Given the description of an element on the screen output the (x, y) to click on. 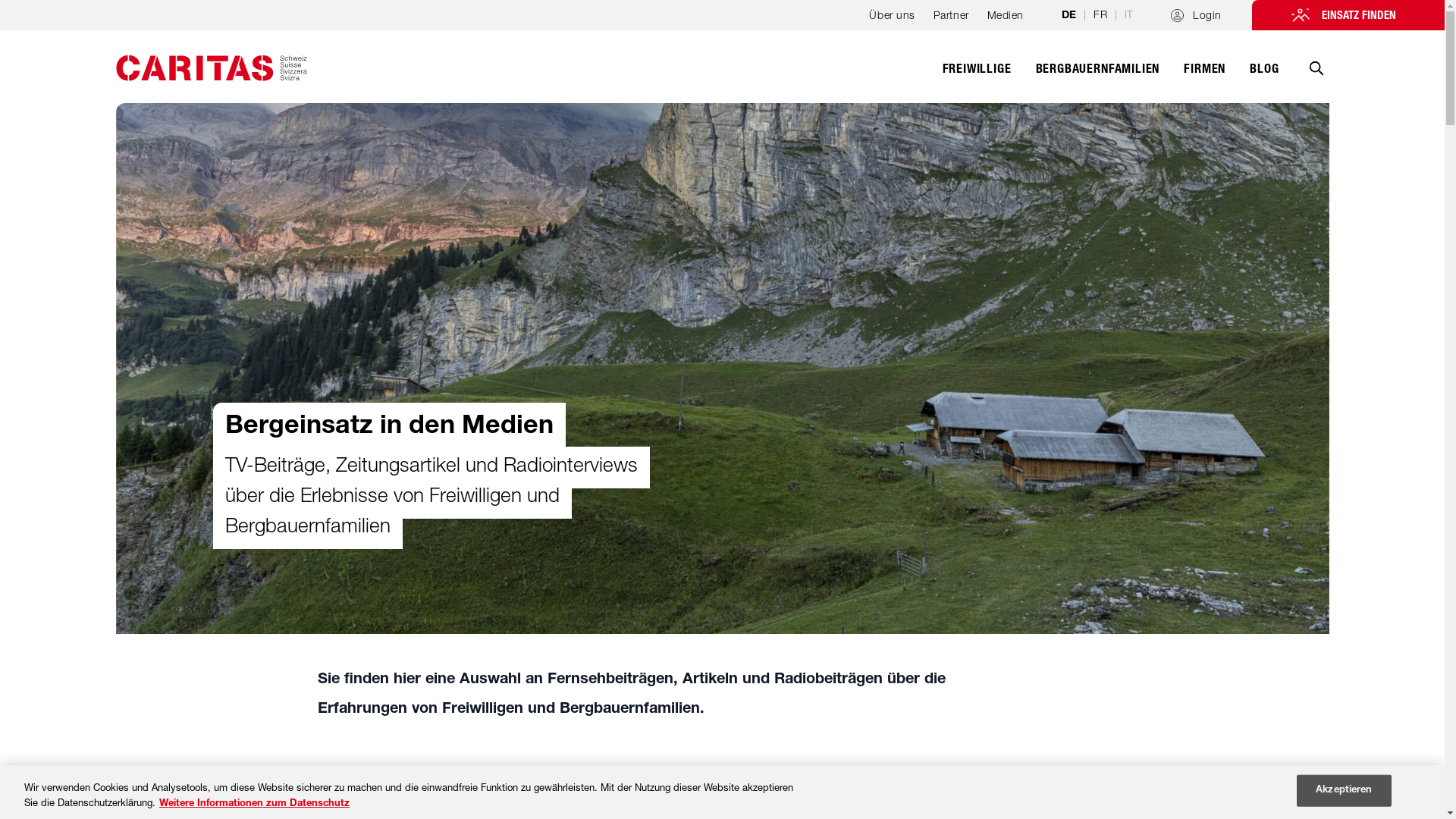
EINSATZ FINDEN Element type: text (1348, 15)
FIRMEN Element type: text (1204, 76)
IT Element type: text (1128, 13)
Partner Element type: text (951, 19)
Login Element type: text (1195, 14)
FREIWILLIGE Element type: text (975, 76)
BLOG Element type: text (1263, 76)
BERGBAUERNFAMILIEN Element type: text (1097, 76)
Medien Element type: text (1005, 19)
Suche Element type: text (1315, 78)
FR Element type: text (1099, 13)
Weitere Informationen zum Datenschutz Element type: text (254, 803)
Akzeptieren Element type: text (1343, 790)
